Given the description of an element on the screen output the (x, y) to click on. 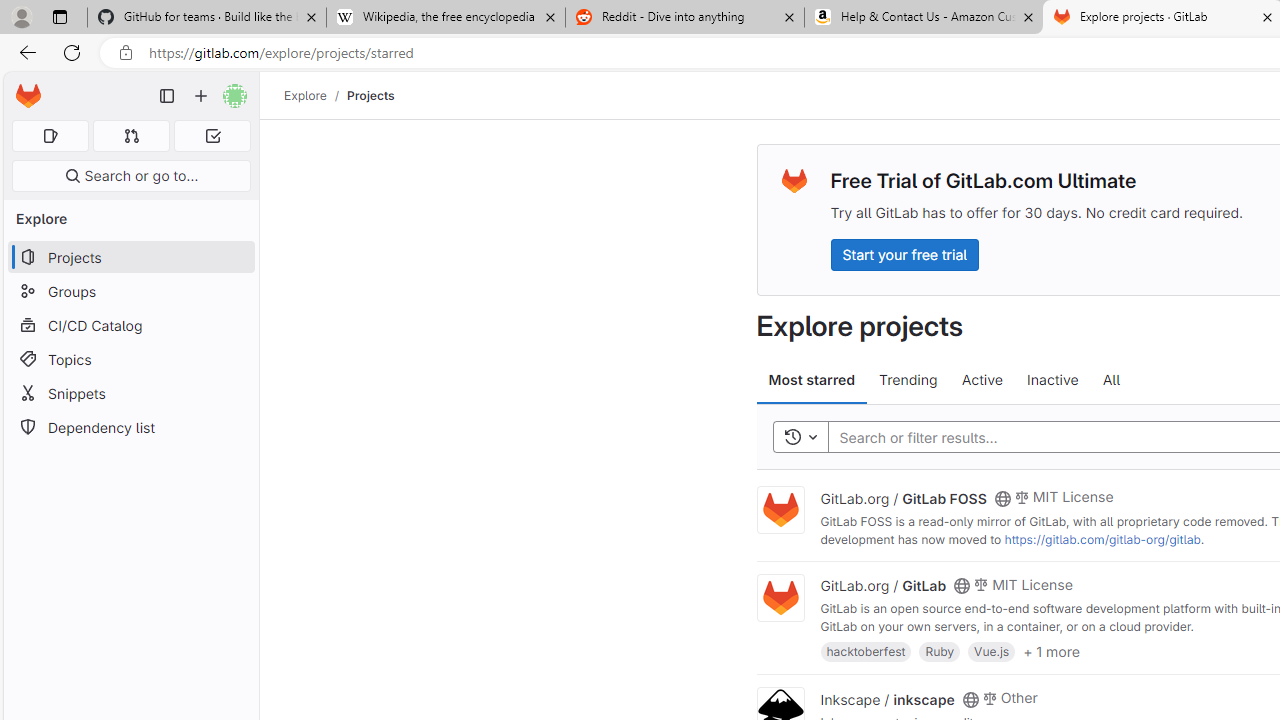
Explore/ (316, 95)
Toggle history (800, 437)
hacktoberfest (866, 650)
Topics (130, 358)
Wikipedia, the free encyclopedia (445, 17)
Ruby (940, 650)
GitLab.org / GitLab FOSS (903, 497)
Class: s14 gl-mr-2 (989, 696)
Inkscape / inkscape (887, 698)
Start your free trial (904, 254)
GitLab.org / GitLab (883, 585)
CI/CD Catalog (130, 325)
